Given the description of an element on the screen output the (x, y) to click on. 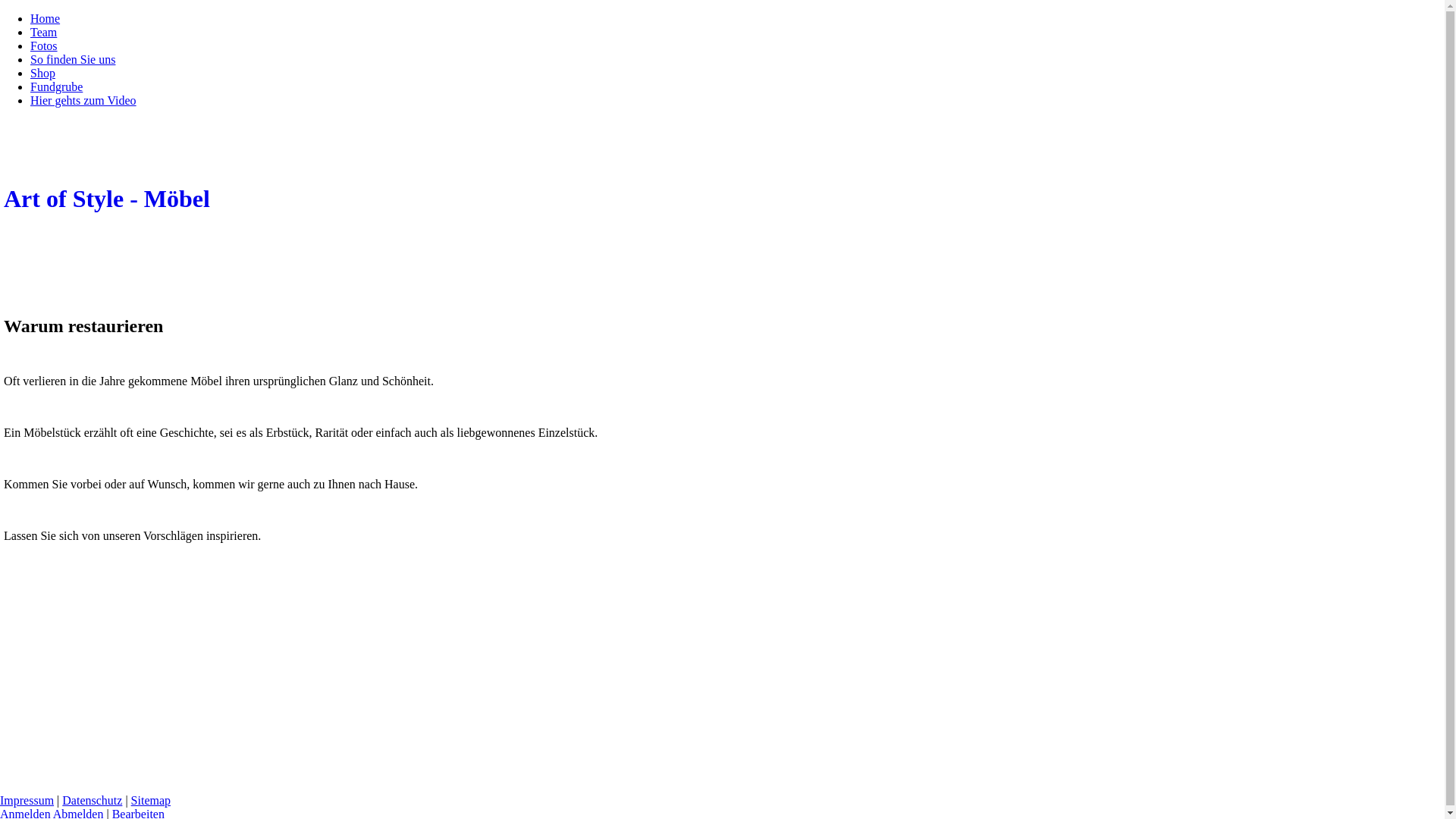
Fundgrube Element type: text (56, 86)
Shop Element type: text (42, 72)
So finden Sie uns Element type: text (72, 59)
Hier gehts zum Video Element type: text (83, 100)
Home Element type: text (44, 18)
Sitemap Element type: text (150, 799)
Team Element type: text (43, 31)
Datenschutz Element type: text (92, 799)
Impressum Element type: text (26, 799)
Fotos Element type: text (43, 45)
